Given the description of an element on the screen output the (x, y) to click on. 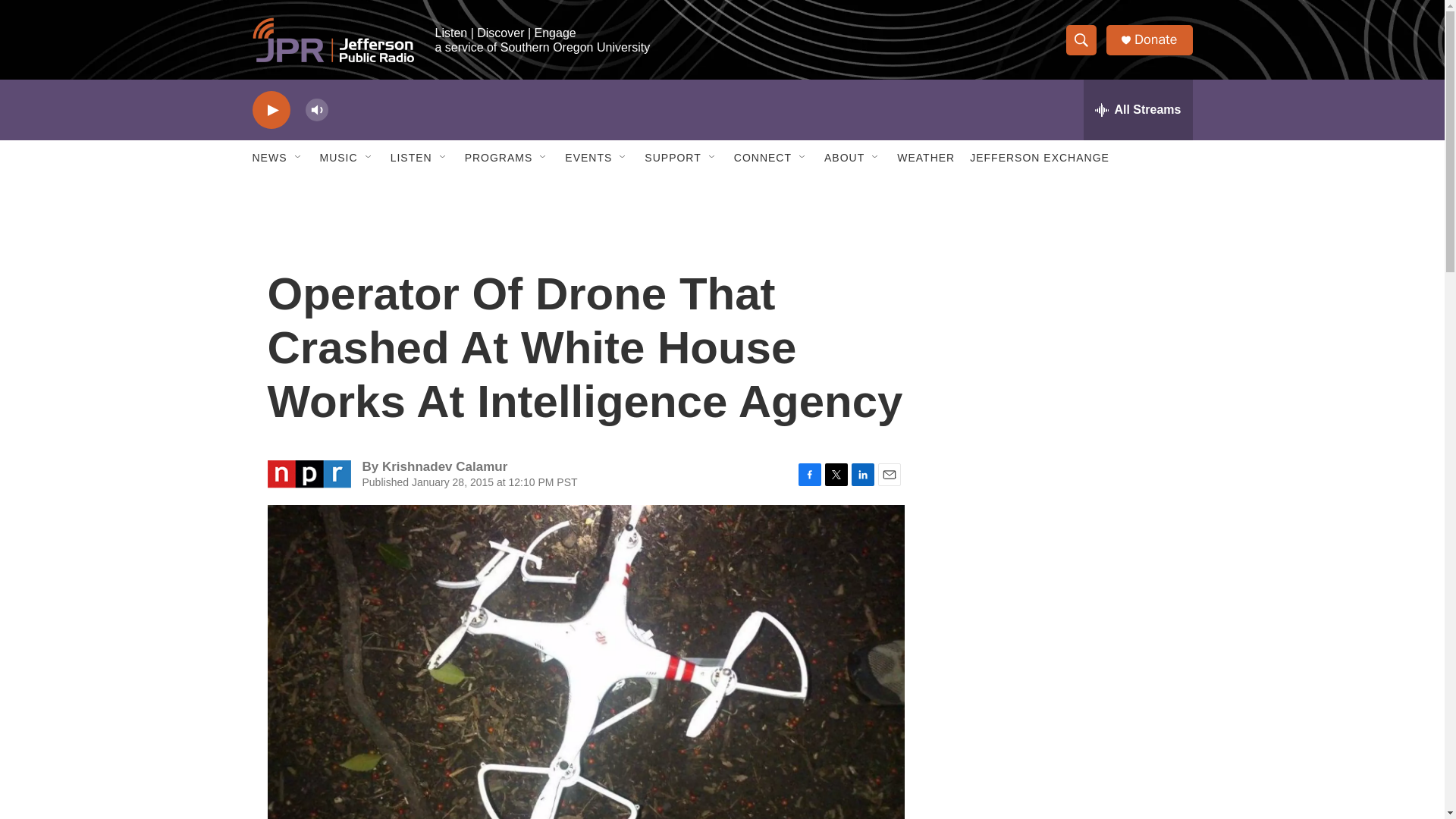
3rd party ad content (1062, 740)
3rd party ad content (1062, 536)
3rd party ad content (1062, 316)
